Given the description of an element on the screen output the (x, y) to click on. 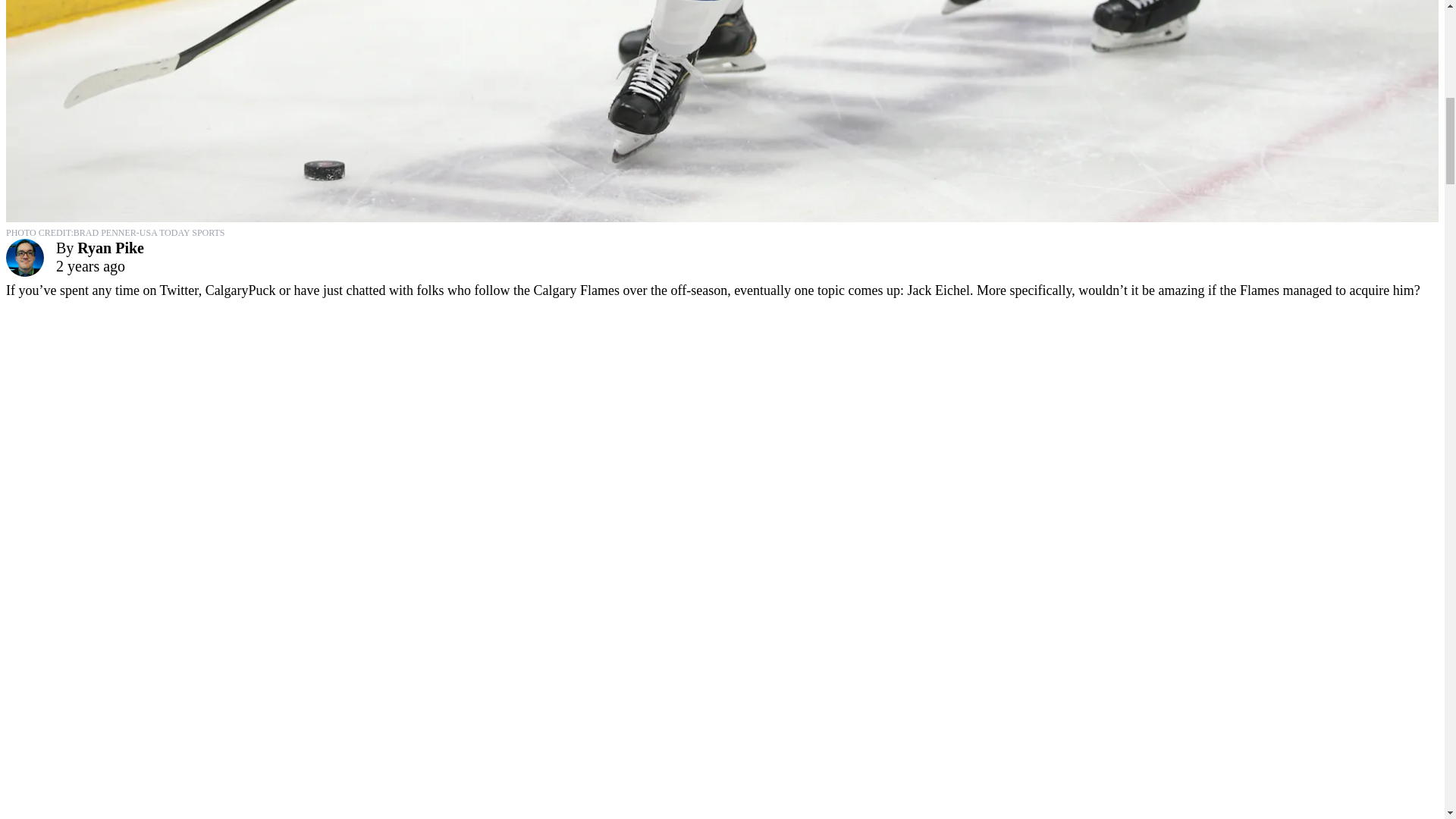
Ryan Pike (110, 247)
